Given the description of an element on the screen output the (x, y) to click on. 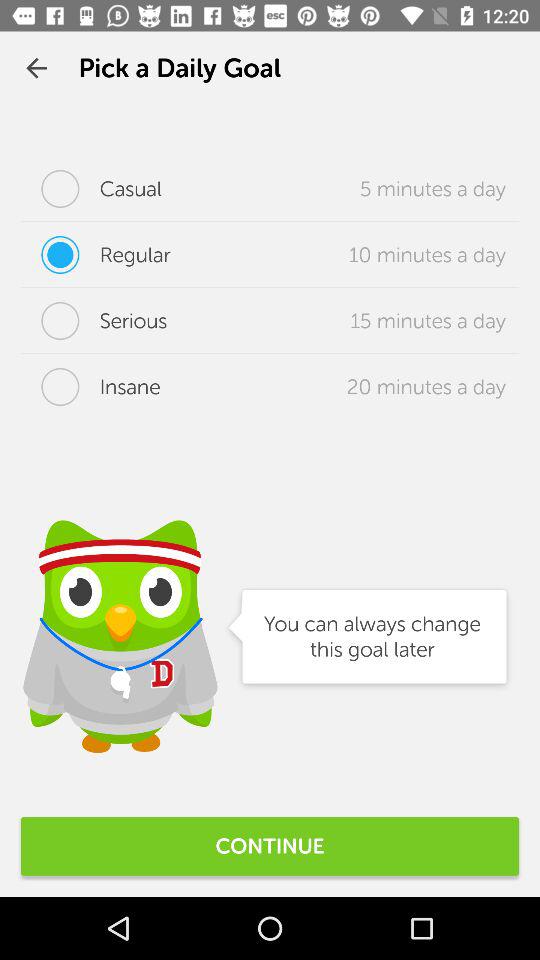
click app to the left of pick a daily icon (36, 68)
